Given the description of an element on the screen output the (x, y) to click on. 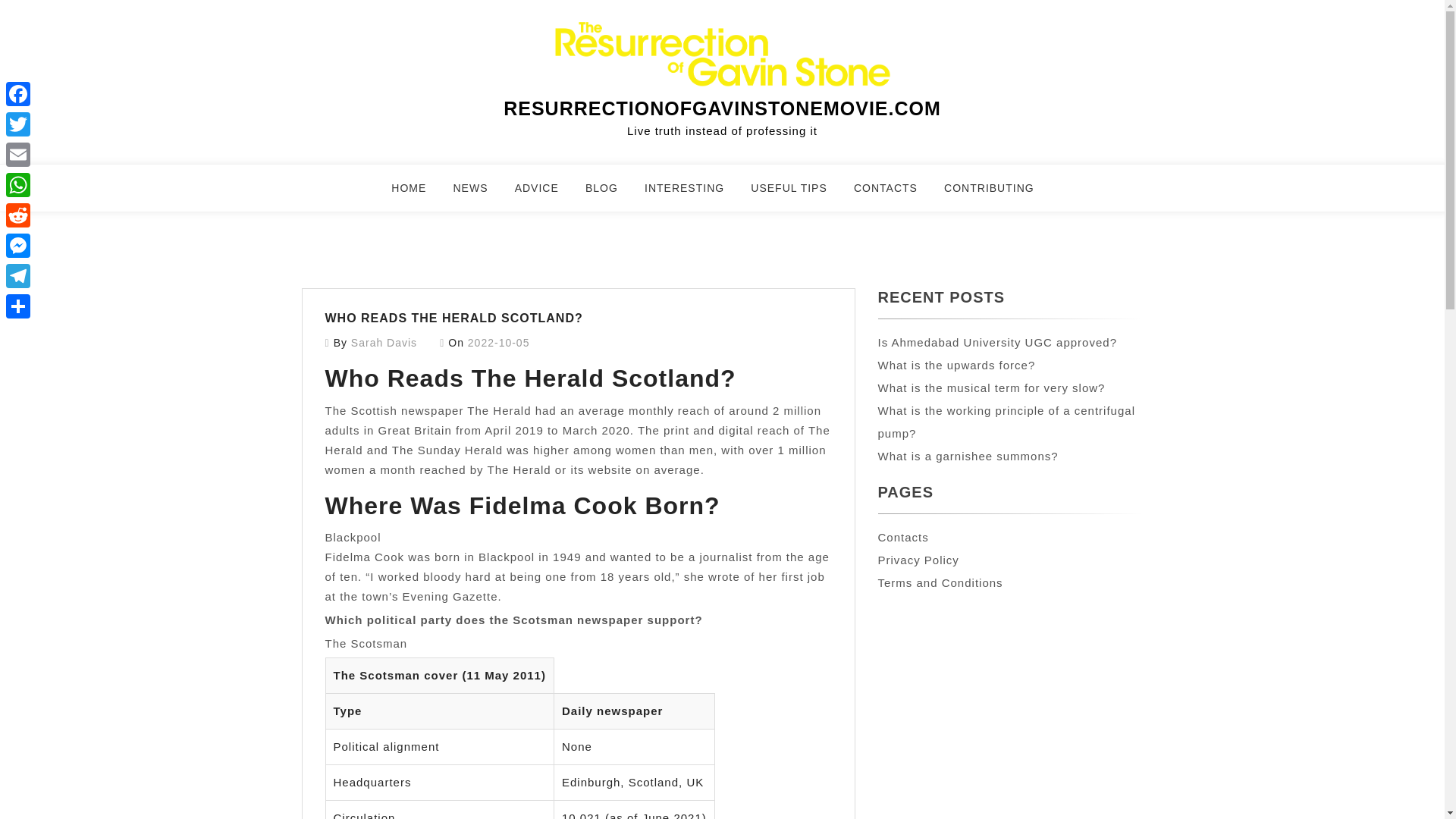
2022-10-05 (498, 342)
Telegram (17, 276)
Twitter (17, 123)
Messenger (17, 245)
Sarah Davis (383, 342)
What is a garnishee summons? (967, 455)
What is the upwards force? (956, 364)
Contacts (902, 536)
USEFUL TIPS (798, 194)
Facebook (17, 93)
RESURRECTIONOFGAVINSTONEMOVIE.COM (721, 107)
What is the working principle of a centrifugal pump? (1006, 421)
BLOG (611, 194)
INTERESTING (693, 194)
CONTACTS (894, 194)
